Given the description of an element on the screen output the (x, y) to click on. 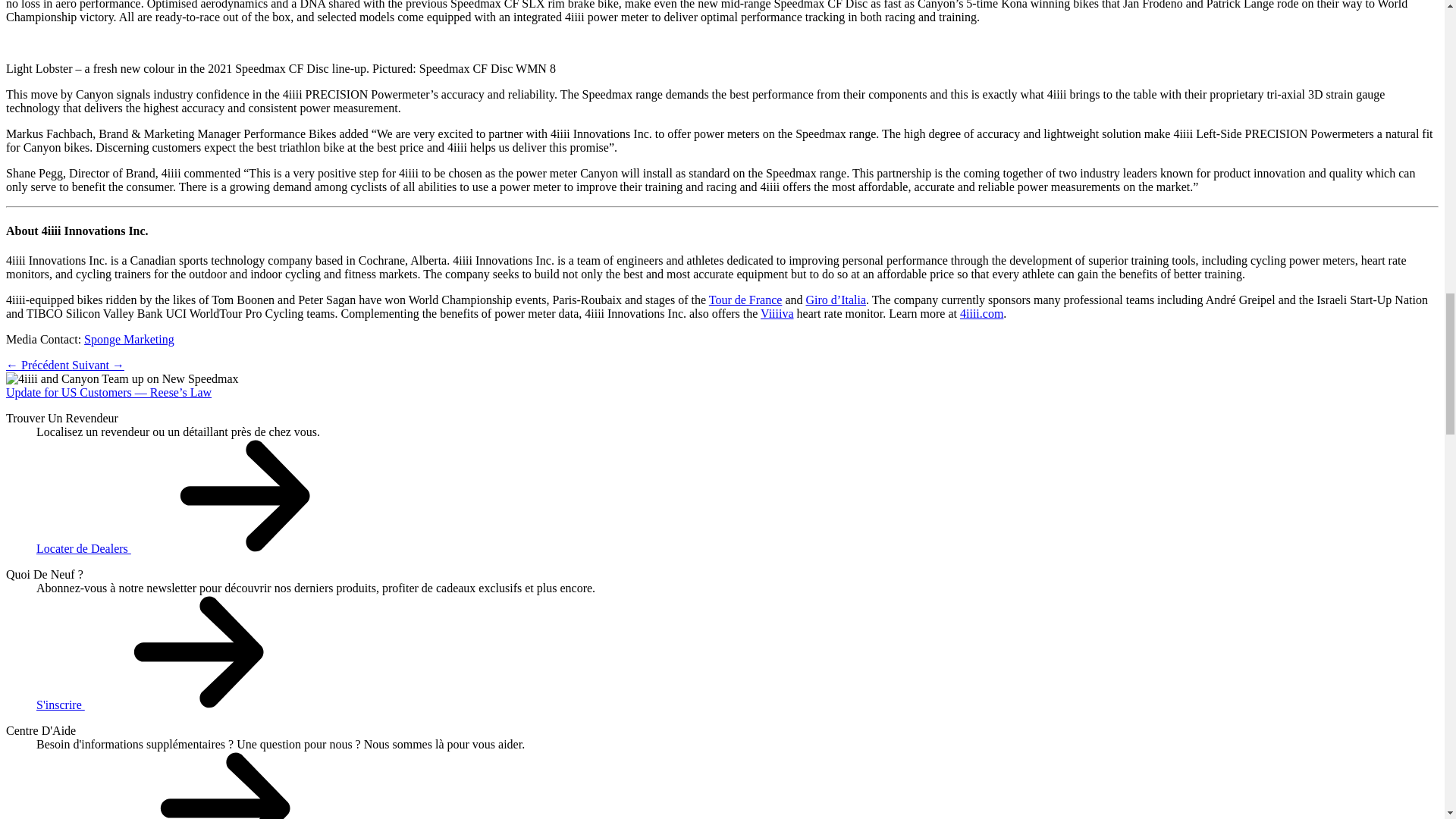
Locater de Dealers (197, 548)
S'inscrire (174, 704)
